Given the description of an element on the screen output the (x, y) to click on. 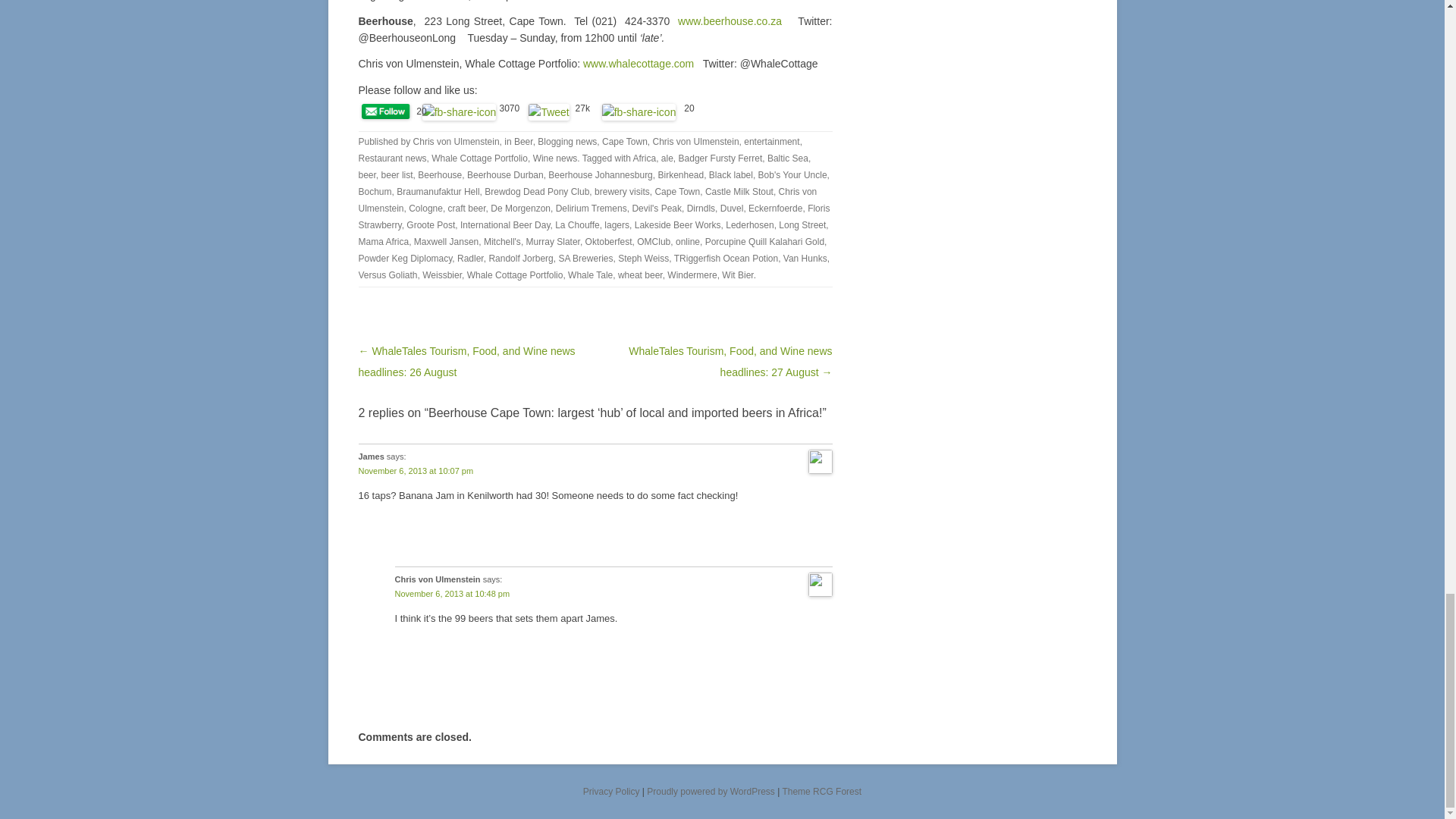
Restaurant news (392, 158)
www.whalecottage.com (638, 63)
Chris von Ulmenstein (695, 141)
Chris von Ulmenstein (456, 141)
Whale Cottage Portfolio (478, 158)
entertainment (771, 141)
View all posts by Chris von Ulmenstein (456, 141)
Cape Town (624, 141)
Wine news (555, 158)
Beer (522, 141)
